Given the description of an element on the screen output the (x, y) to click on. 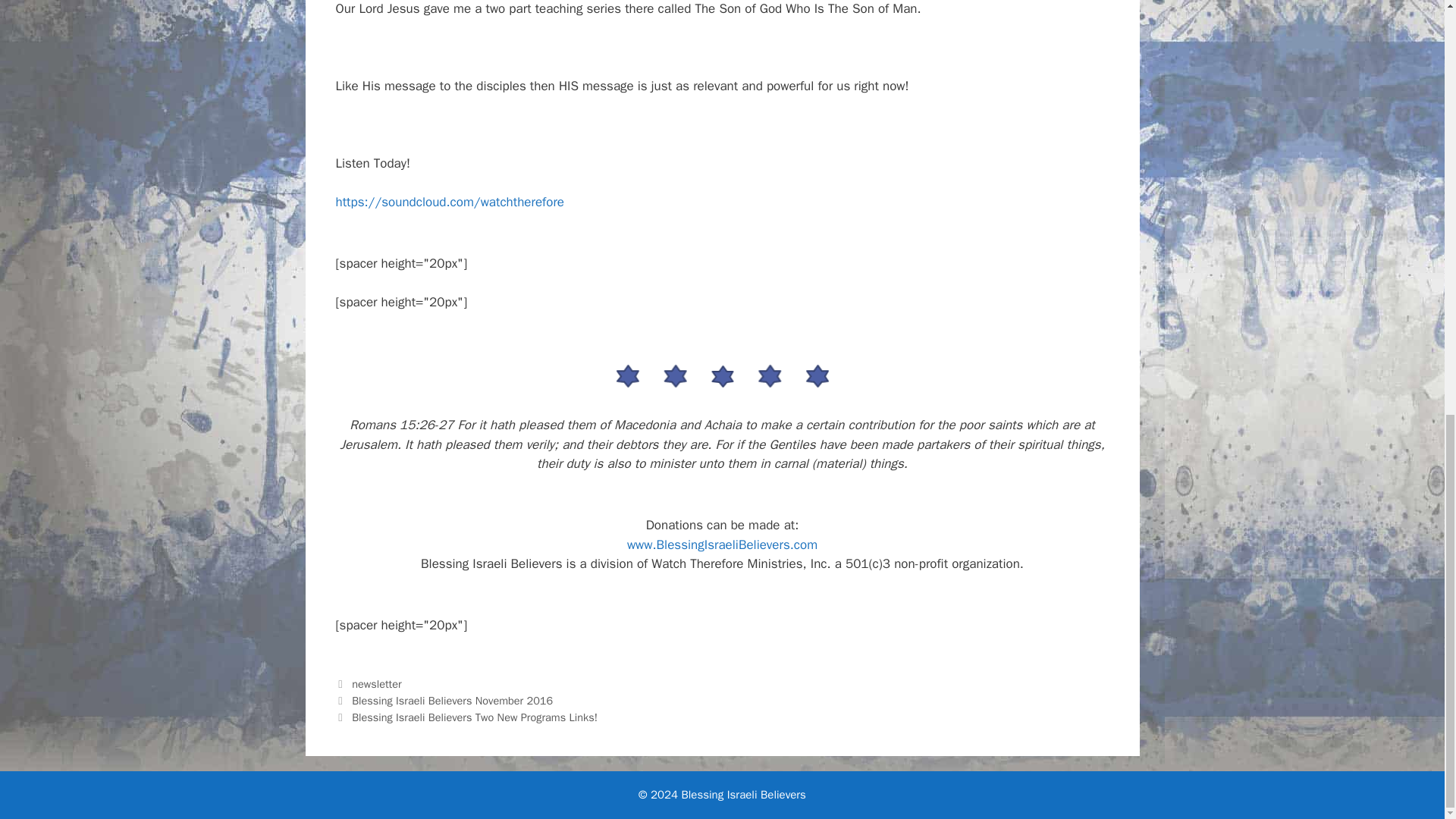
Blessing Israeli Believers November 2016 (452, 700)
Blessing Israeli Believers Two New Programs Links! (474, 716)
newsletter (376, 684)
www.BlessingIsraeliBelievers.com (721, 544)
